Given the description of an element on the screen output the (x, y) to click on. 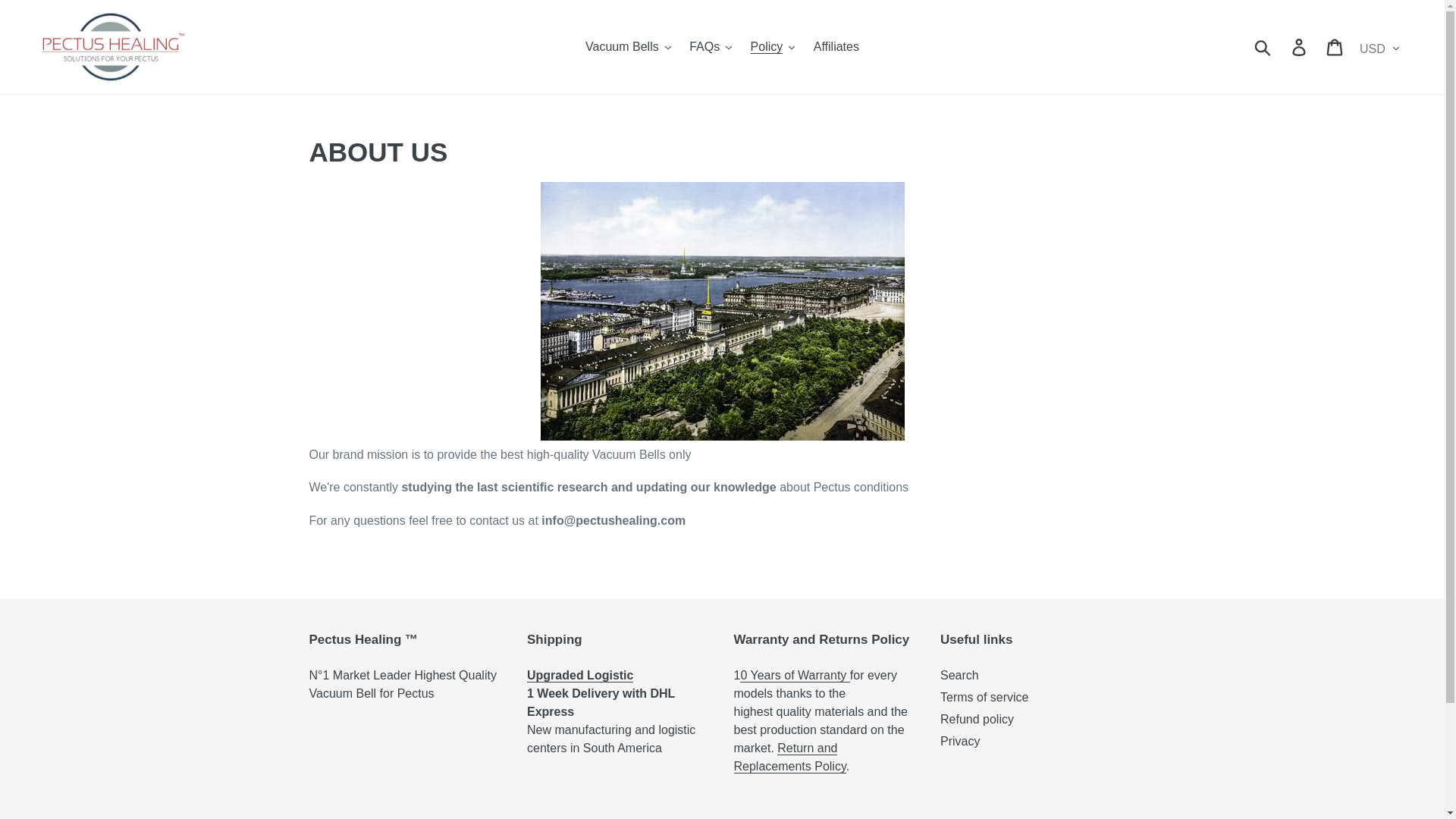
10 YEARS OF WARRANTY (793, 675)
Carrito (1335, 46)
Affiliates (836, 47)
Ingresar (1299, 46)
Buscar (1263, 46)
